Given the description of an element on the screen output the (x, y) to click on. 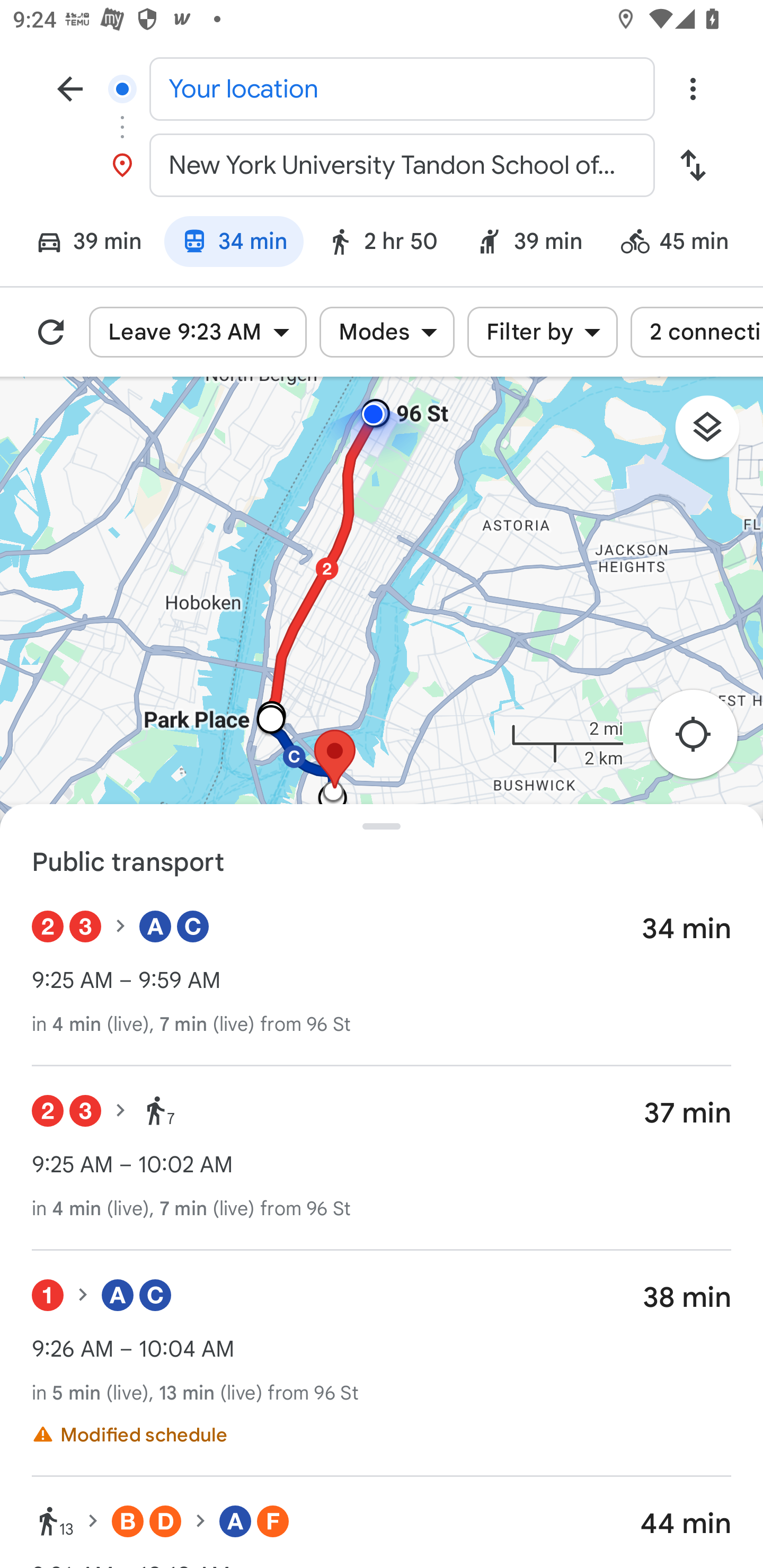
Navigate up (70, 88)
Your location Start location, Your location (381, 88)
Overflow menu (692, 88)
Swap start and destination (692, 165)
Driving mode: 39 min 39 min (80, 244)
Walking mode: 2 hr 50 2 hr 50 (381, 244)
Ride service: 39 min 39 min (529, 244)
Bicycling mode: 45 min 45 min (682, 244)
Refresh (50, 332)
Leave 9:23 AM Leave 9:23 AM Leave 9:23 AM (197, 332)
Modes Modes Modes (386, 332)
Filter by Filter by Filter by (542, 332)
Layers (716, 433)
Re-center map to your location (702, 739)
